Given the description of an element on the screen output the (x, y) to click on. 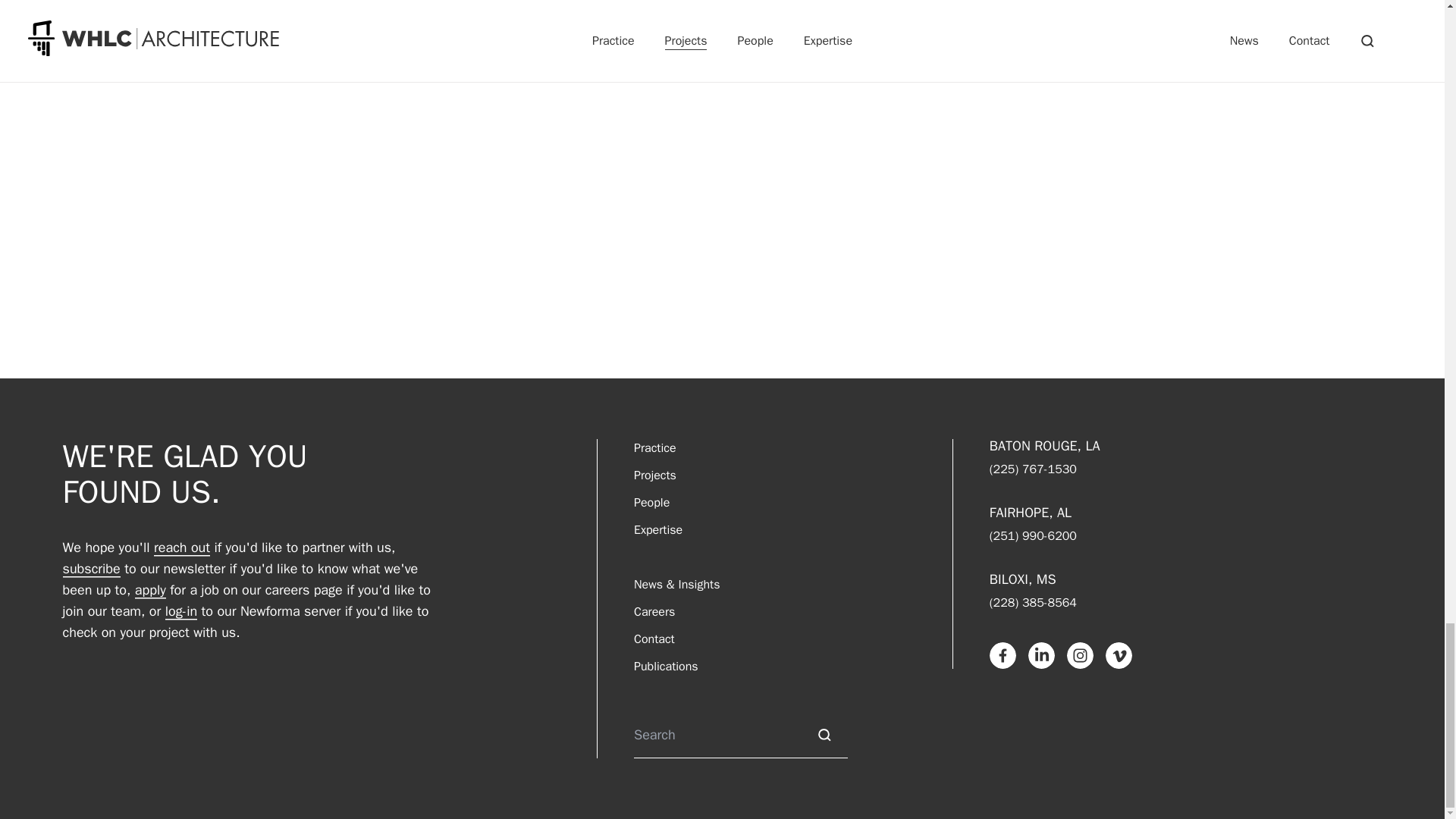
twitter (721, 14)
